Given the description of an element on the screen output the (x, y) to click on. 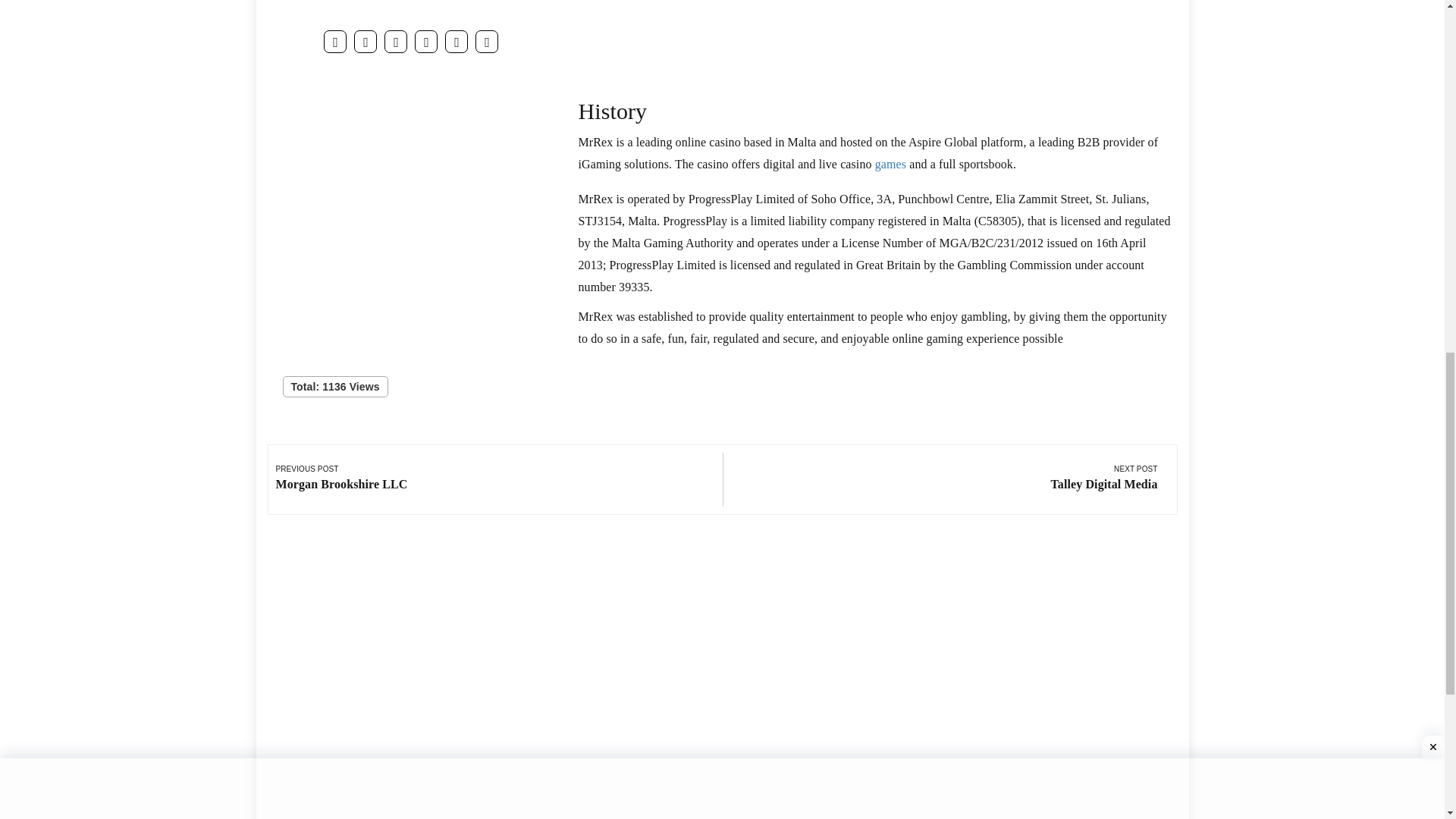
Advertisement (877, 38)
Advertisement (347, 479)
games (721, 5)
